Given the description of an element on the screen output the (x, y) to click on. 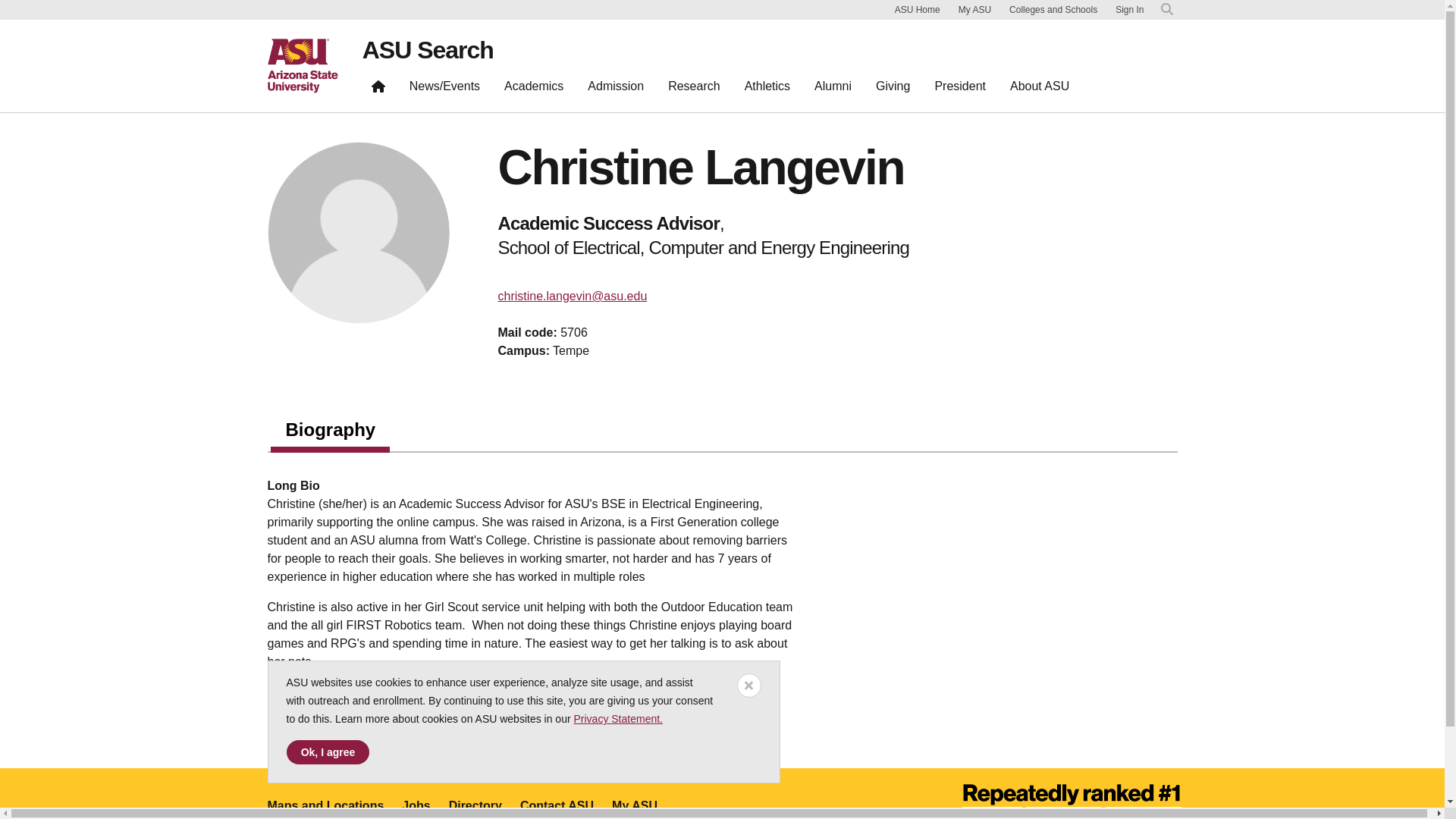
Biography (330, 432)
Alumni (832, 89)
Contact ASU (556, 805)
Admission (615, 89)
President (959, 89)
President (959, 89)
Jobs (415, 805)
Giving (892, 89)
ASU home page (301, 65)
About ASU (1039, 89)
ASU Search (427, 49)
Admission (615, 89)
Ok, I agree (327, 752)
Athletics (767, 89)
